Given the description of an element on the screen output the (x, y) to click on. 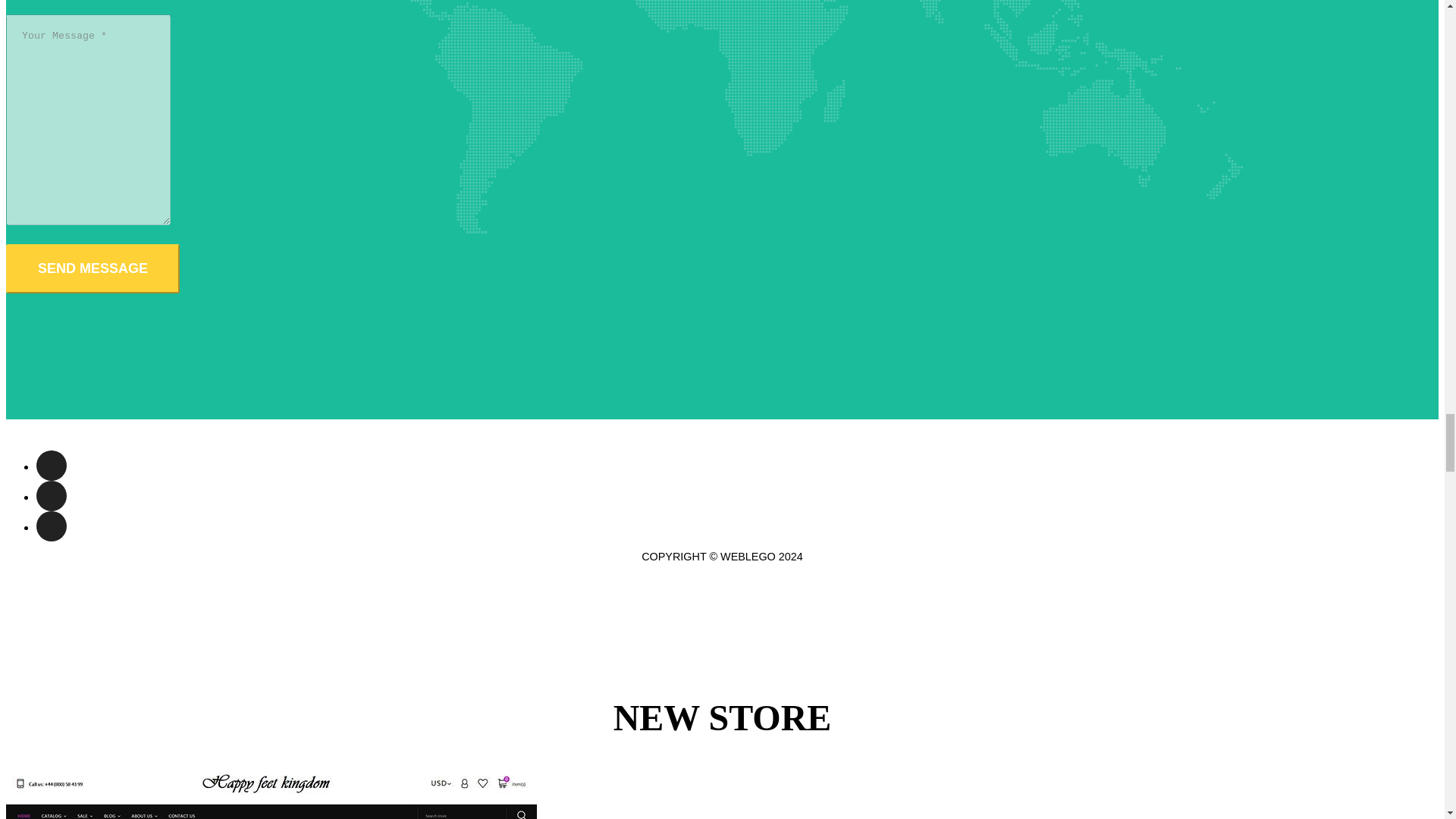
SEND MESSAGE (92, 268)
